Given the description of an element on the screen output the (x, y) to click on. 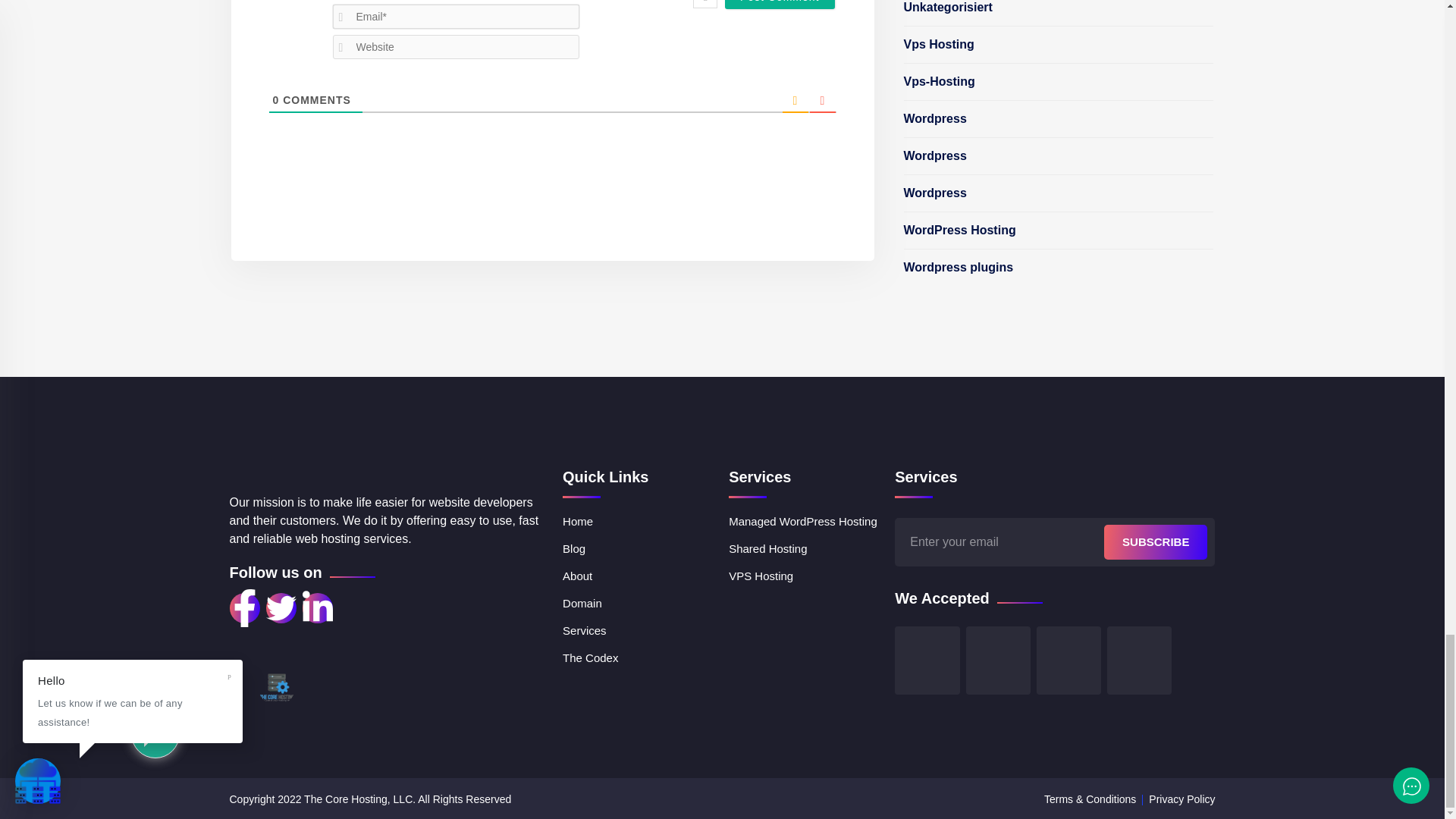
Post Comment (779, 4)
